Given the description of an element on the screen output the (x, y) to click on. 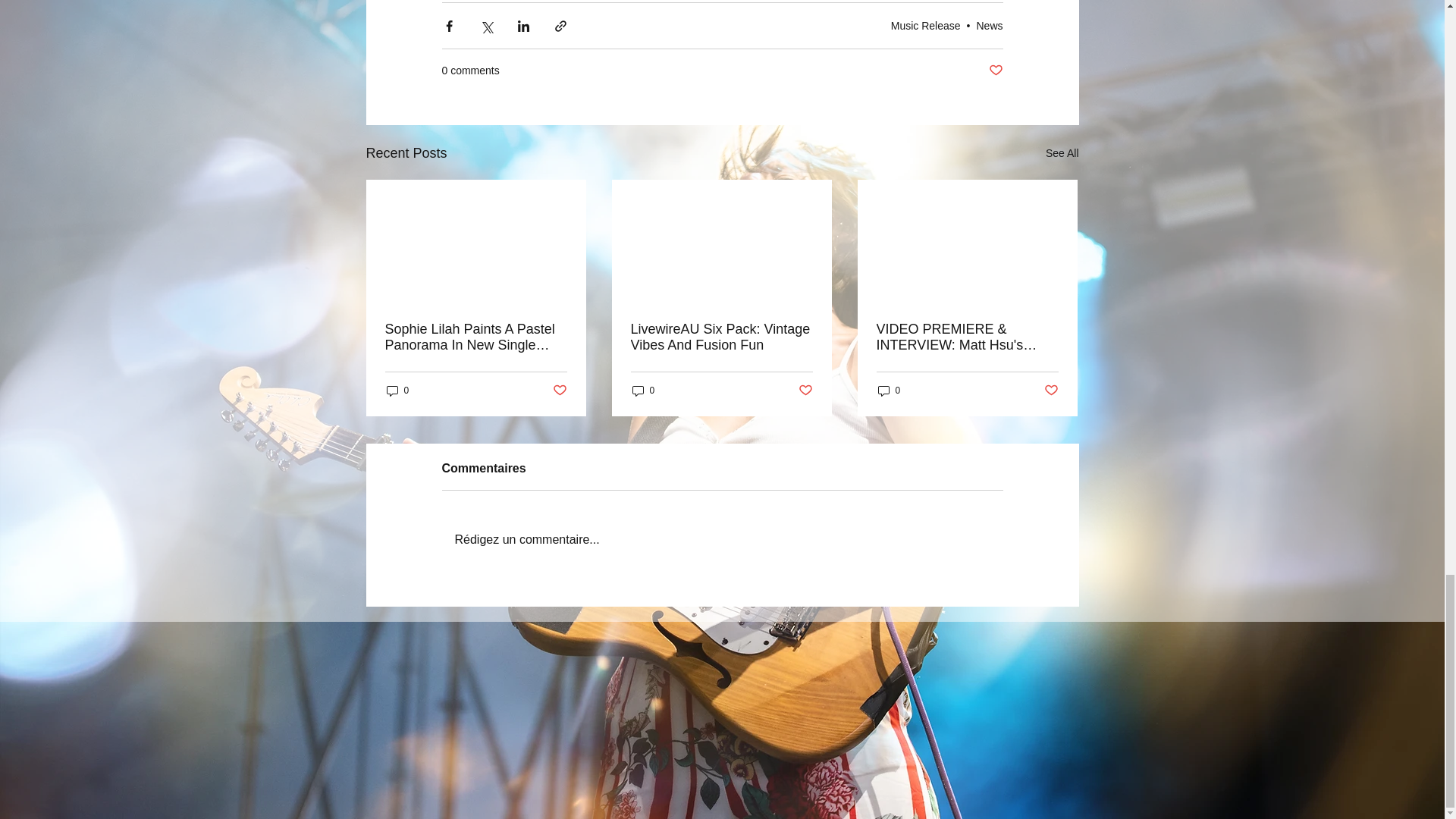
0 (397, 391)
Post not marked as liked (558, 390)
Music Release (925, 25)
0 (889, 391)
News (989, 25)
Post not marked as liked (804, 390)
Post not marked as liked (1050, 390)
LivewireAU Six Pack: Vintage Vibes And Fusion Fun (721, 336)
Post not marked as liked (995, 70)
See All (1061, 153)
0 (643, 391)
